Given the description of an element on the screen output the (x, y) to click on. 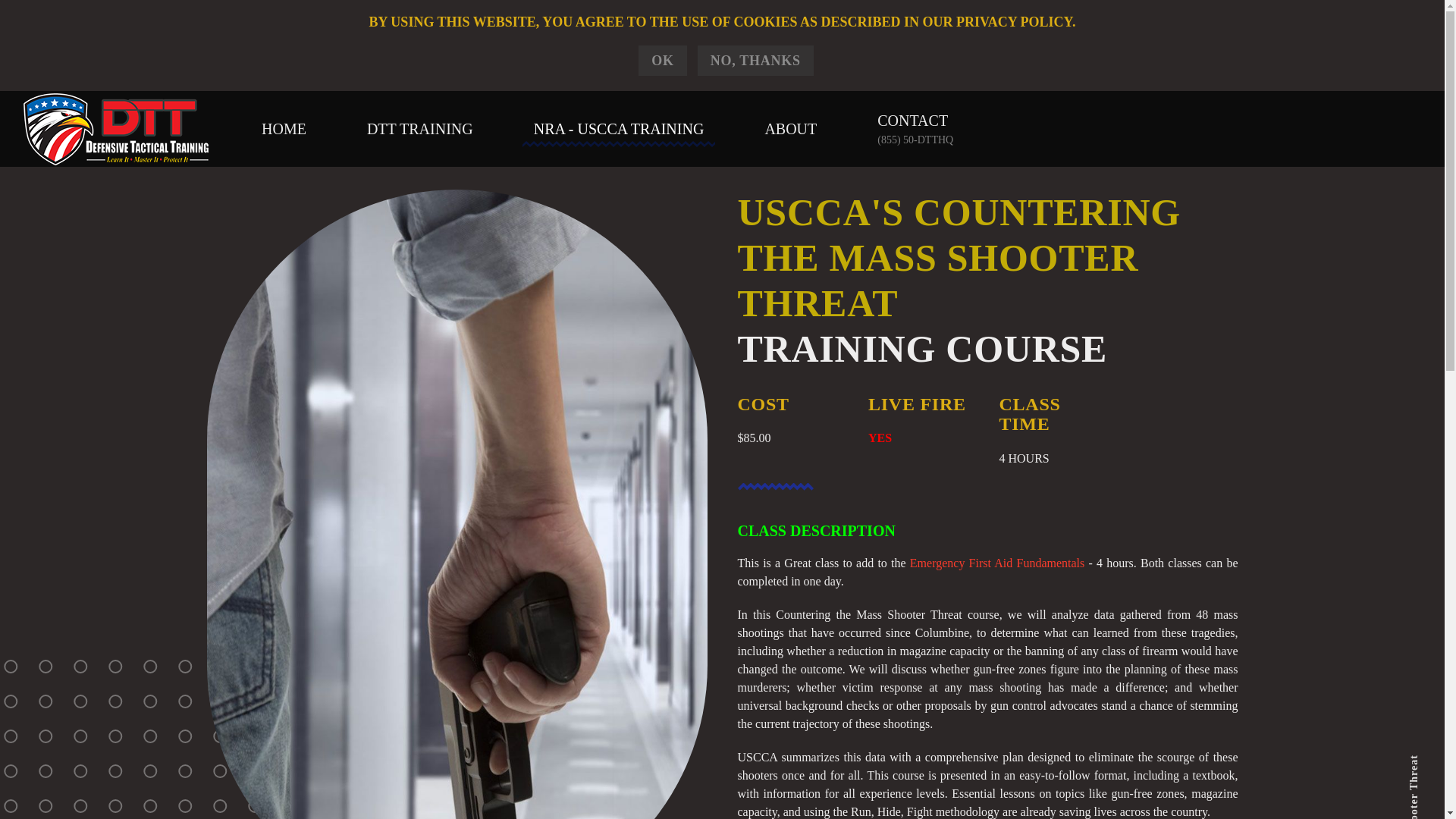
DTT TRAINING (419, 128)
NO, THANKS (755, 60)
OK (663, 60)
Emergency First Aid Fundamentals (997, 562)
NRA - USCCA TRAINING (619, 128)
HOME (283, 128)
